Given the description of an element on the screen output the (x, y) to click on. 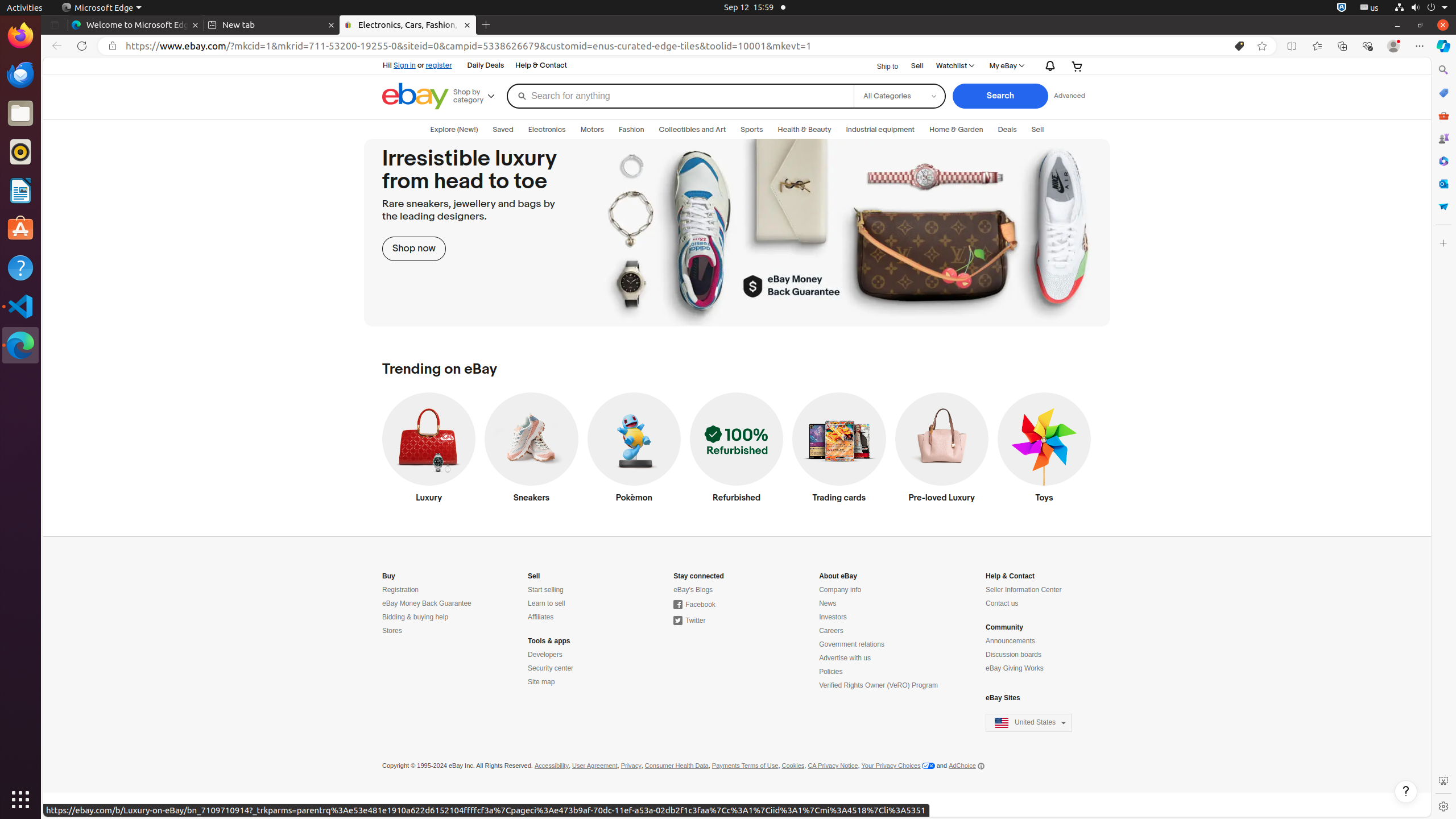
Facebook Element type: link (694, 604)
AdChoice Element type: link (966, 766)
Cookies Element type: link (792, 765)
eBay Money Back Guarantee Element type: link (426, 603)
Shop by category Element type: push-button (477, 95)
